Given the description of an element on the screen output the (x, y) to click on. 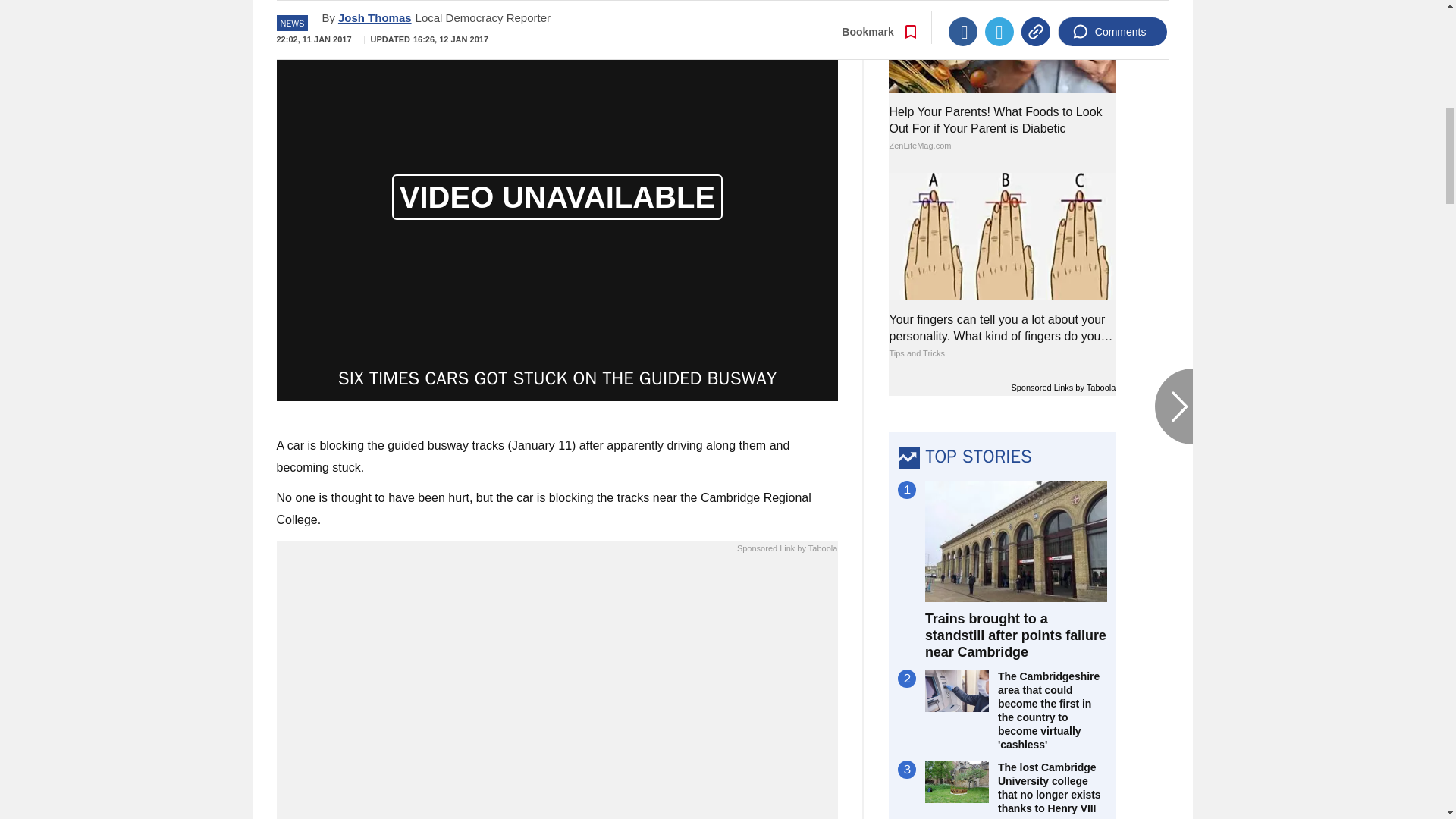
Go (730, 2)
